Given the description of an element on the screen output the (x, y) to click on. 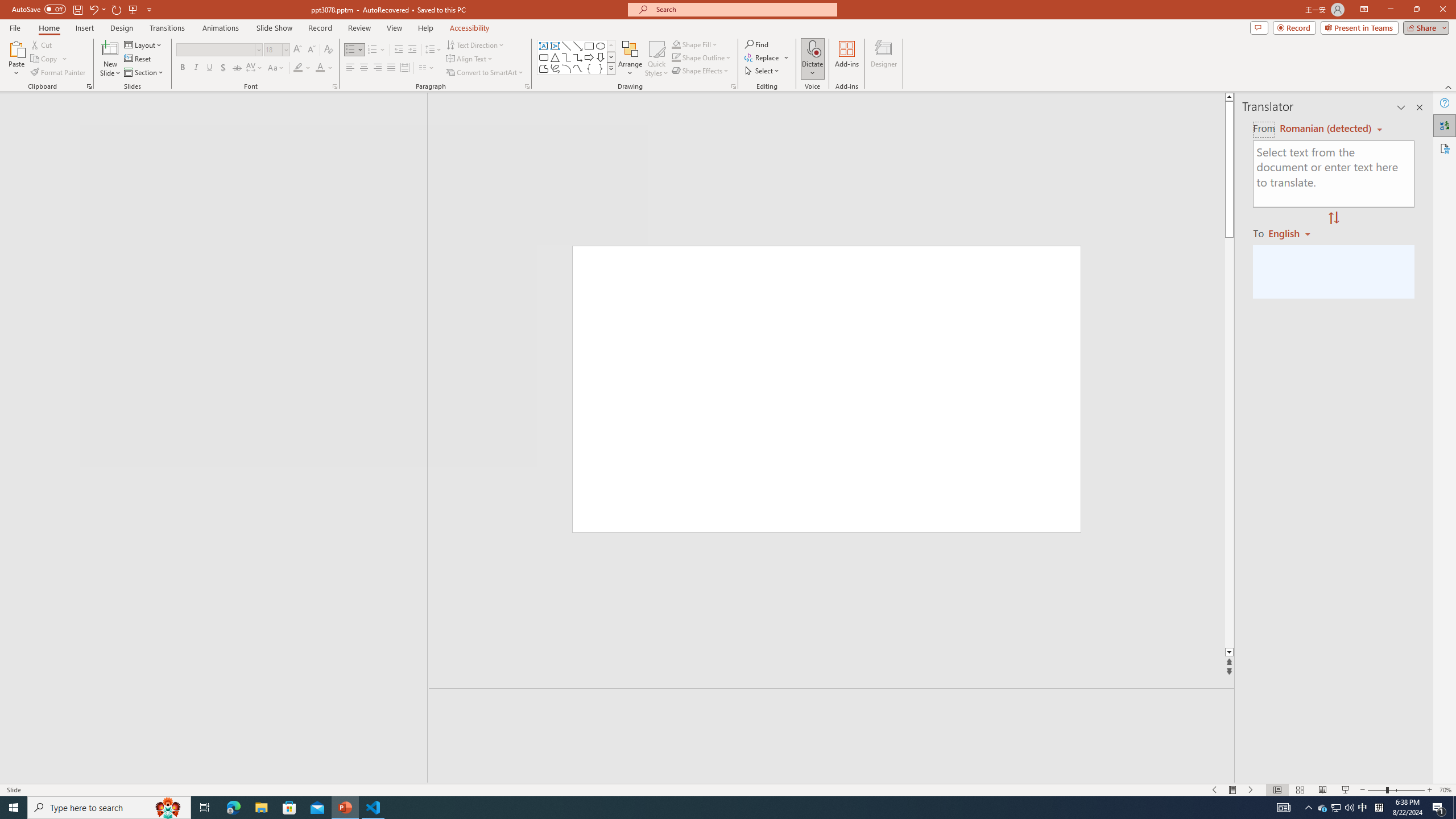
Zoom 70% (1445, 790)
